Given the description of an element on the screen output the (x, y) to click on. 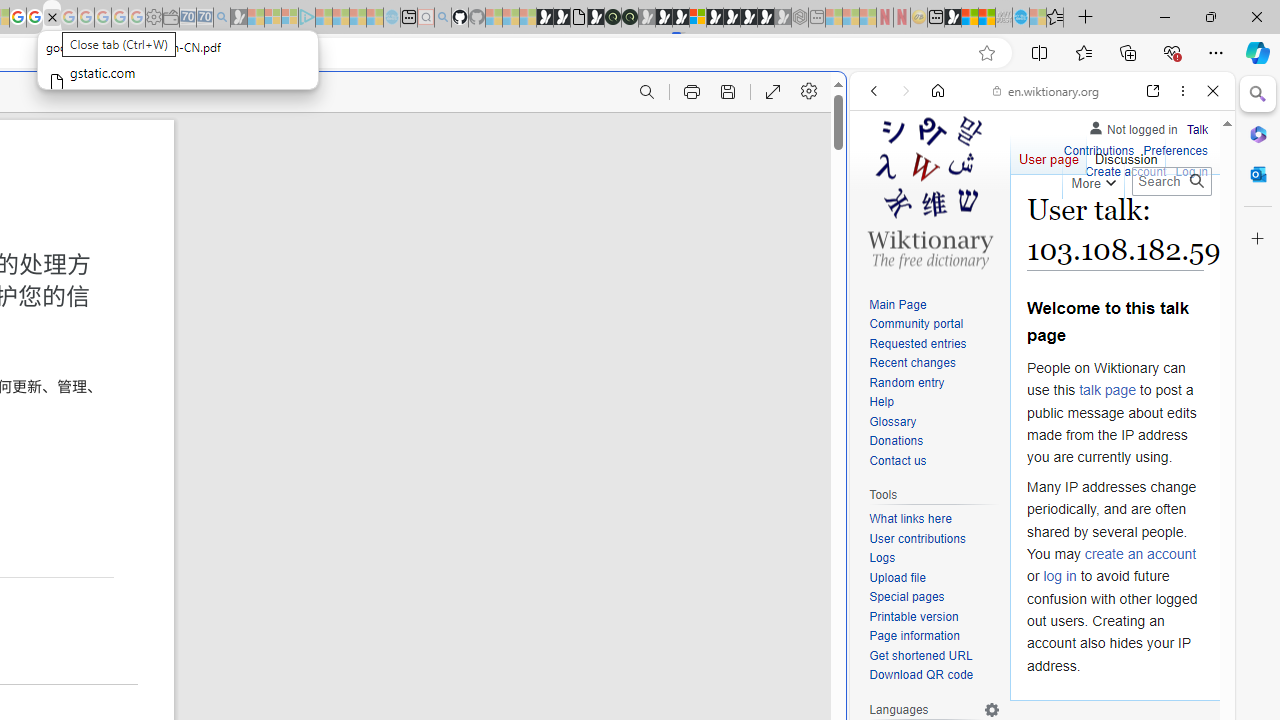
Printable version (913, 616)
New tab (936, 17)
Play Zoo Boom in your browser | Games from Microsoft Start (561, 17)
Close split screen (844, 102)
MSN (952, 17)
Preferences (1175, 151)
User page (1048, 154)
Download QR code (921, 675)
Search Filter, WEB (882, 228)
Main Page (897, 303)
